Given the description of an element on the screen output the (x, y) to click on. 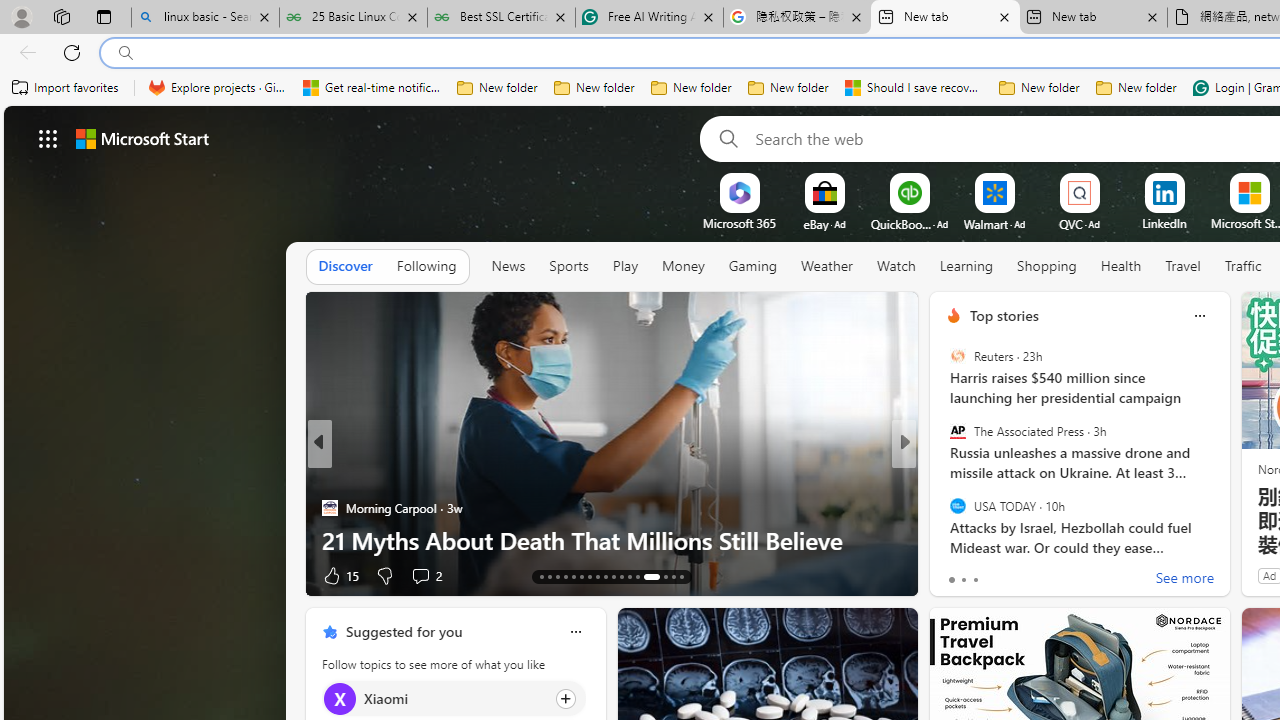
219 Like (959, 574)
View comments 1 Comment (1041, 574)
Health (1121, 265)
To get missing image descriptions, open the context menu. (739, 192)
Traffic (1243, 265)
AutomationID: tab-28 (673, 576)
AutomationID: tab-13 (541, 576)
View comments 3 Comment (1042, 575)
Best SSL Certificates Provider in India - GeeksforGeeks (500, 17)
Gaming (752, 267)
Weather (826, 267)
